Given the description of an element on the screen output the (x, y) to click on. 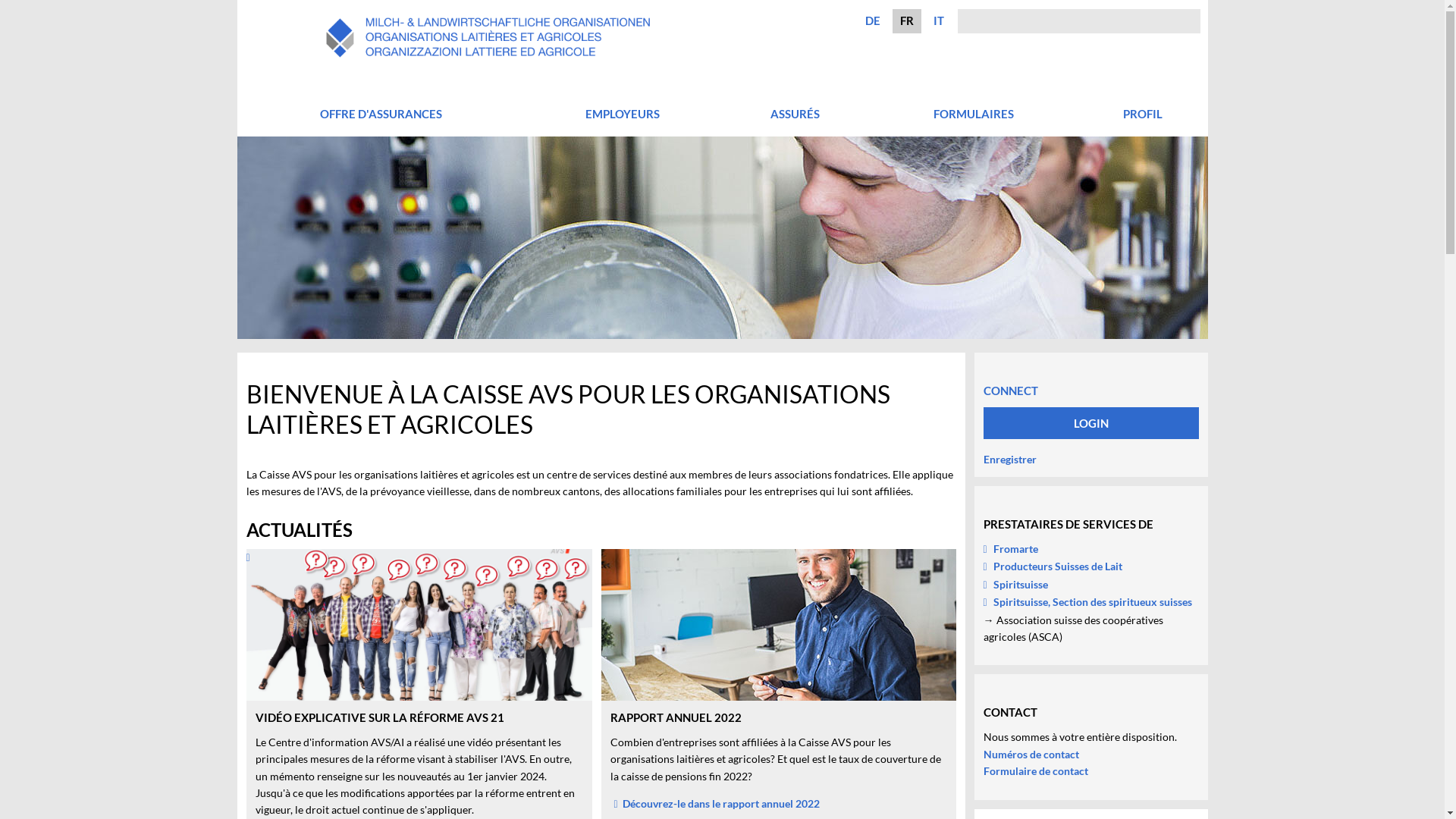
Formulaire de contact Element type: text (1034, 770)
Home Element type: hover (487, 58)
IT Element type: text (938, 20)
CONNECT Element type: text (1009, 383)
Spiritsuisse, Section des spiritueux suisses Element type: text (1086, 601)
Enregistrer Element type: text (1008, 458)
Spiritsuisse Element type: text (1014, 583)
LOGIN Element type: text (1090, 423)
Fromarte Element type: text (1009, 548)
Producteurs Suisses de Lait Element type: text (1051, 565)
DE Element type: text (872, 20)
  Element type: text (418, 624)
FR Element type: text (906, 20)
